Given the description of an element on the screen output the (x, y) to click on. 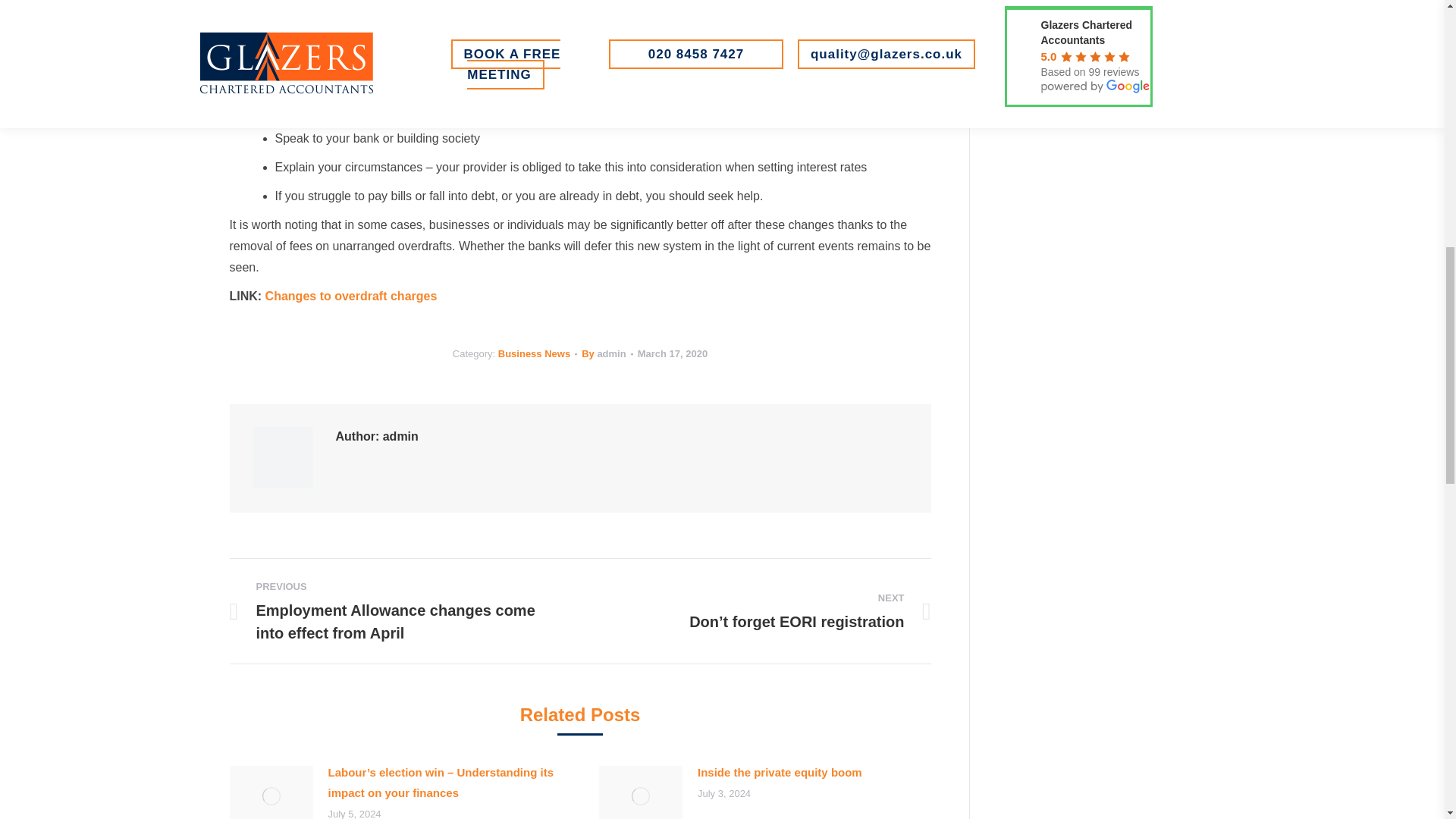
4:04 pm (672, 353)
View all posts by admin (606, 353)
